Given the description of an element on the screen output the (x, y) to click on. 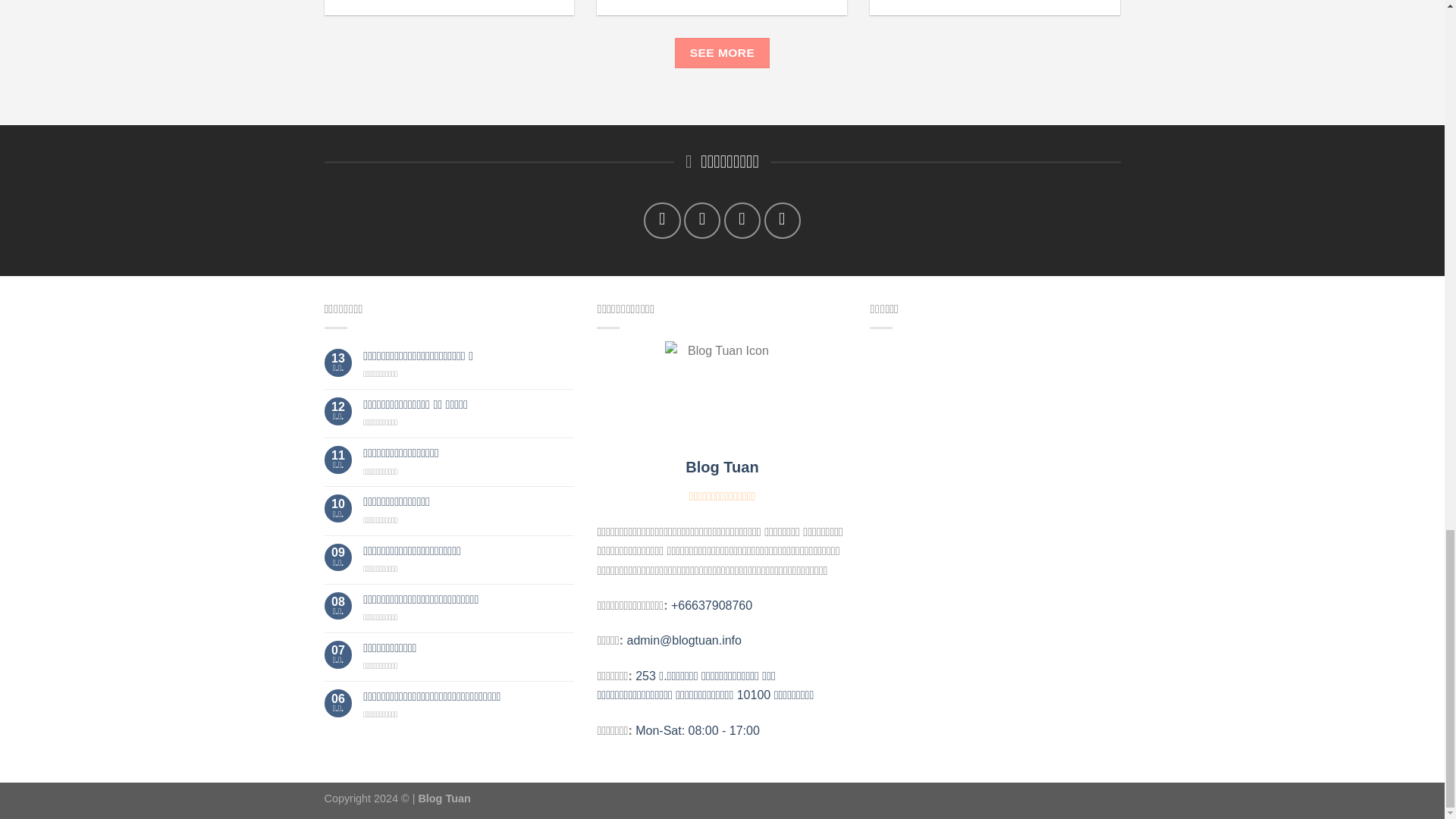
Follow on Twitter (702, 220)
Follow on YouTube (782, 220)
Follow on Facebook (661, 220)
Follow on Pinterest (741, 220)
